Given the description of an element on the screen output the (x, y) to click on. 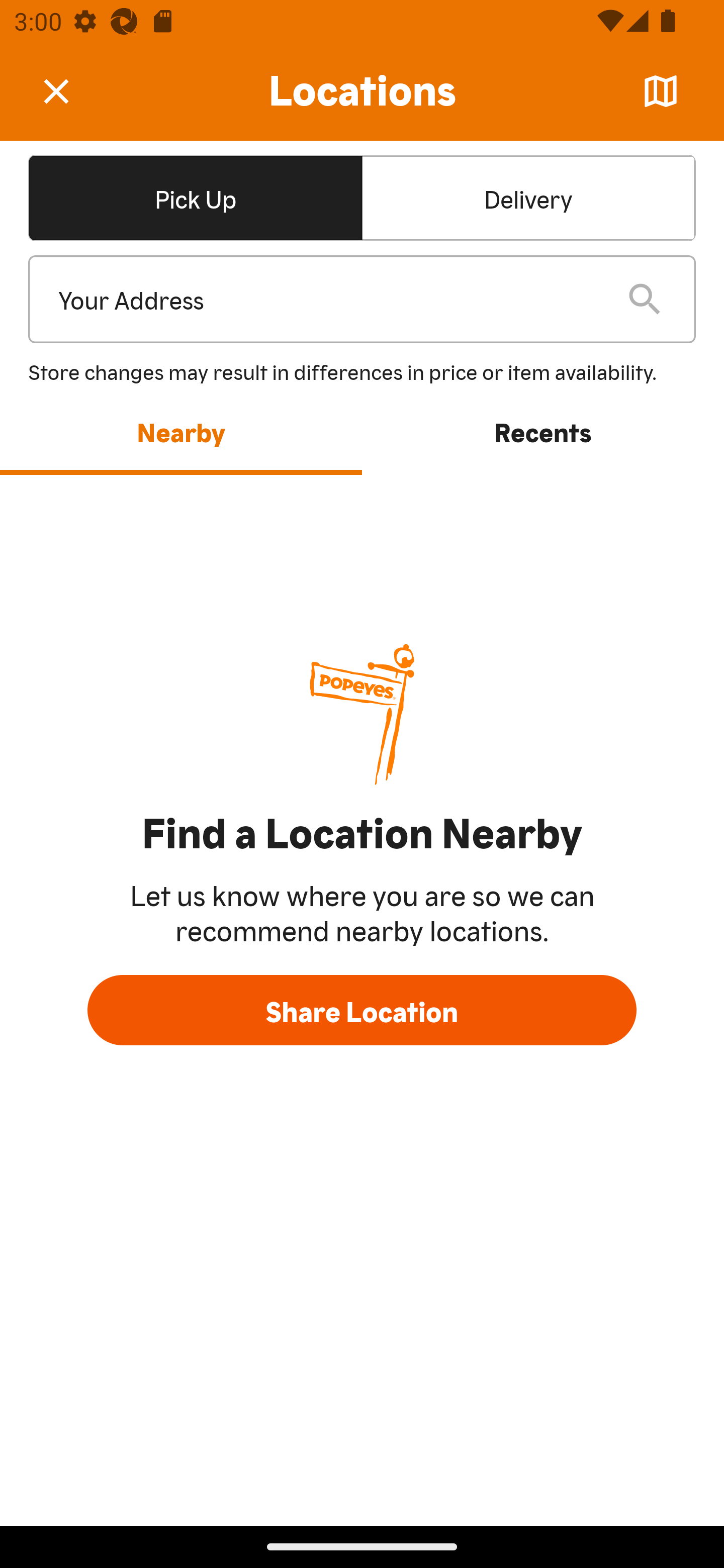
 (70, 90)
Map 󰦂 (660, 91)
Locations (362, 91)
Pick UpSelected Pick UpSelected Pick Up (195, 197)
Delivery Delivery Delivery (528, 197)
Your Address (327, 299)
Nearby (181, 430)
Recents (543, 430)
Share Location (361, 1010)
